Given the description of an element on the screen output the (x, y) to click on. 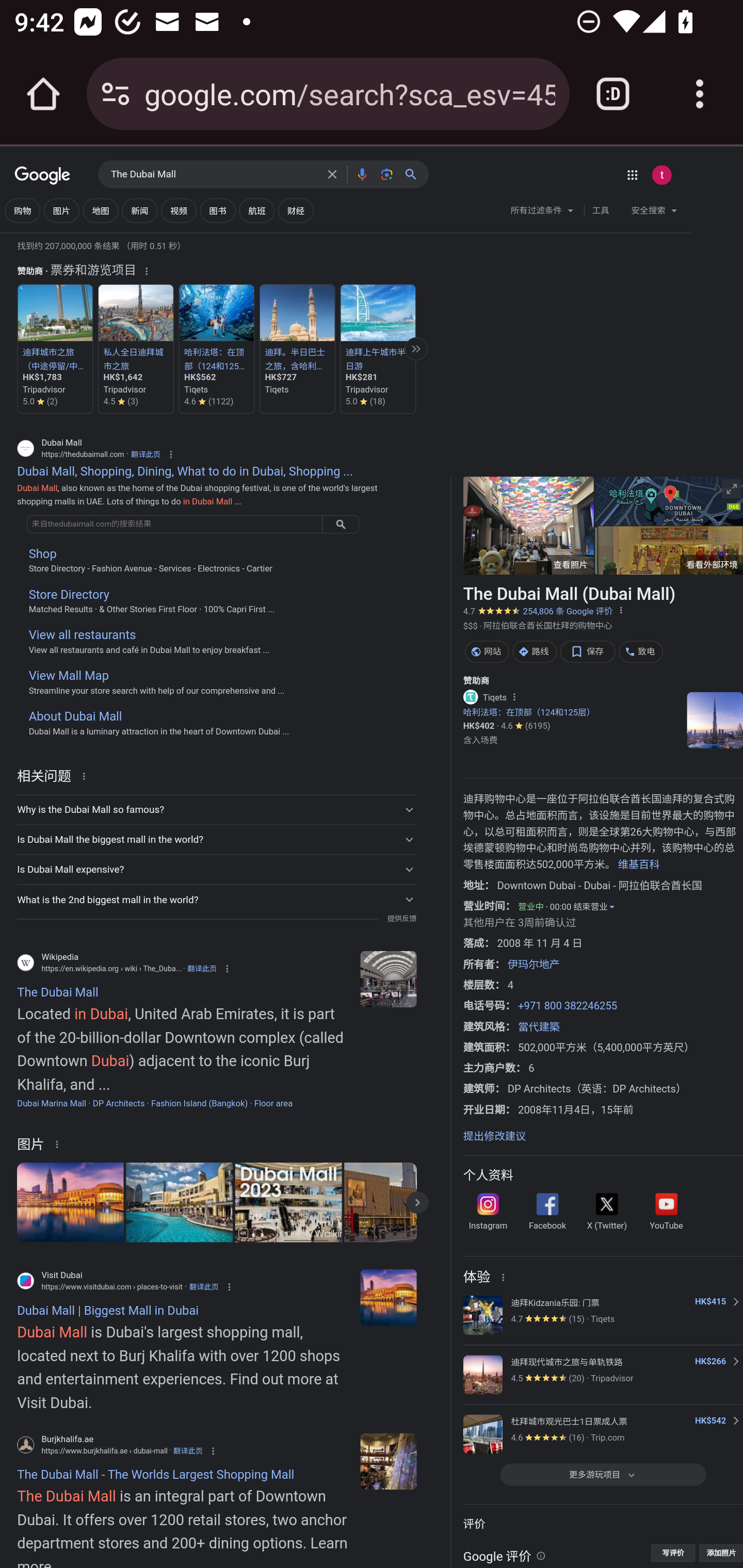
Open the home page (43, 93)
Connection is secure (115, 93)
Switch or close tabs (612, 93)
Customize and control Google Chrome (699, 93)
